Given the description of an element on the screen output the (x, y) to click on. 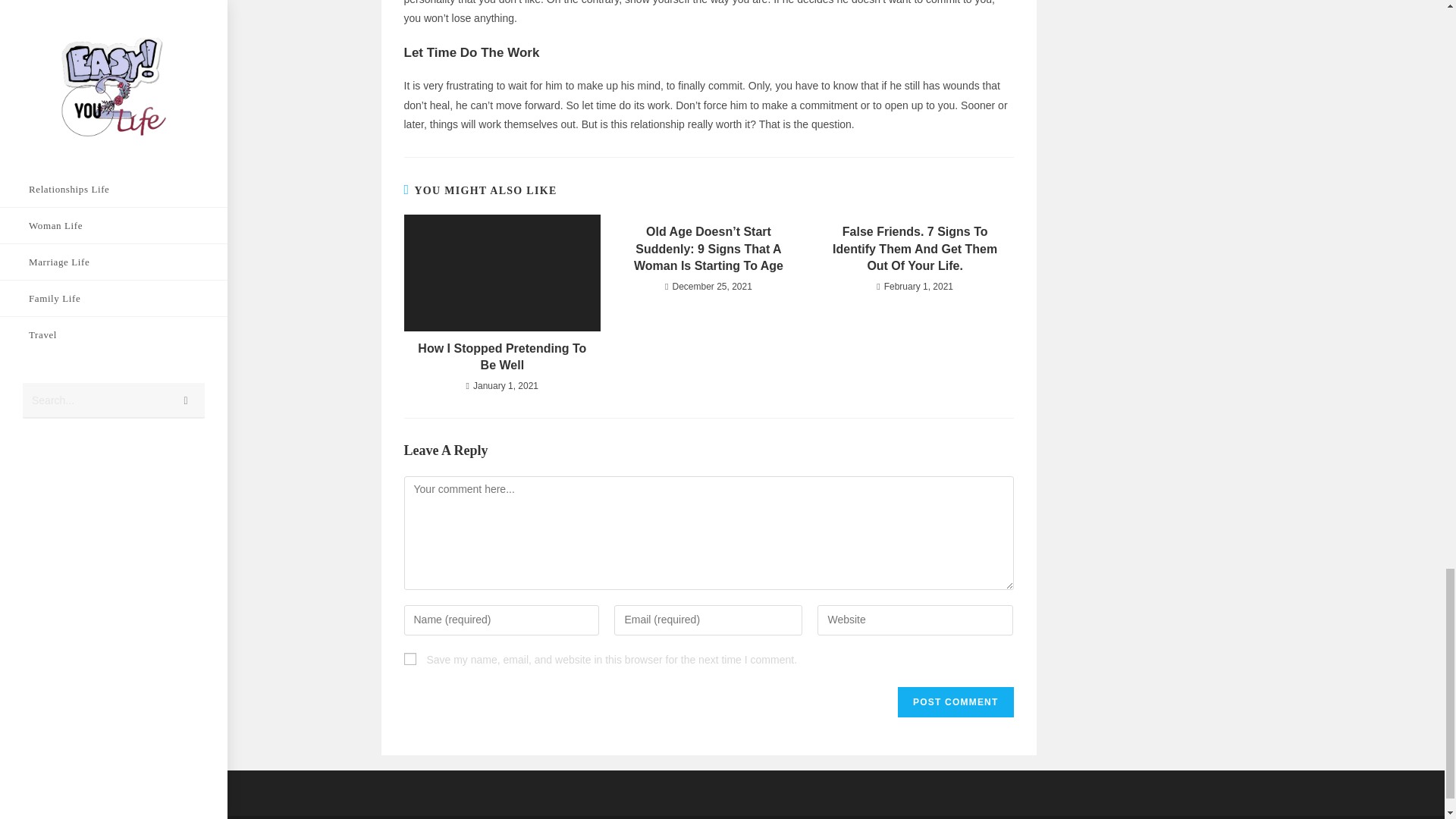
How I Stopped Pretending To Be Well (501, 357)
Post Comment (955, 702)
yes (408, 658)
Post Comment (955, 702)
